Given the description of an element on the screen output the (x, y) to click on. 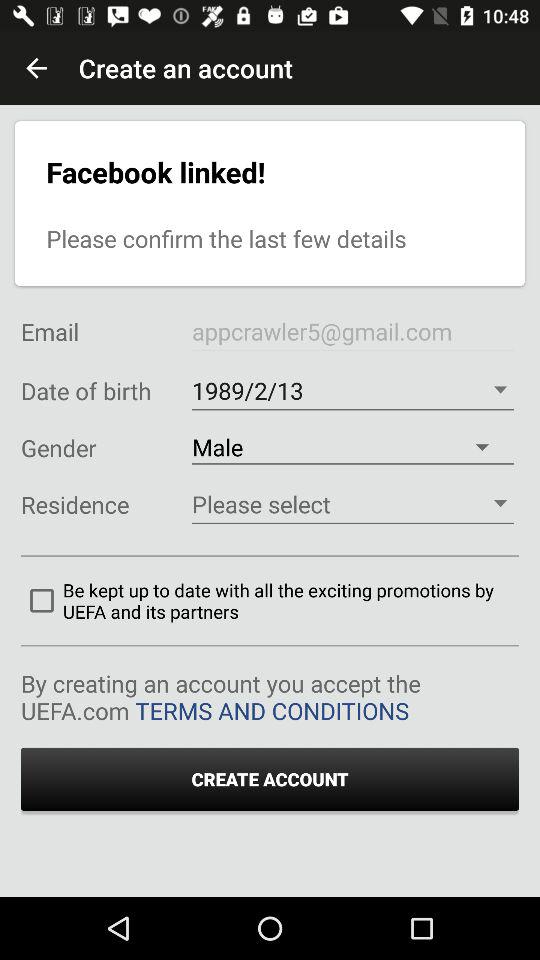
open residence drop down menu (352, 504)
